Given the description of an element on the screen output the (x, y) to click on. 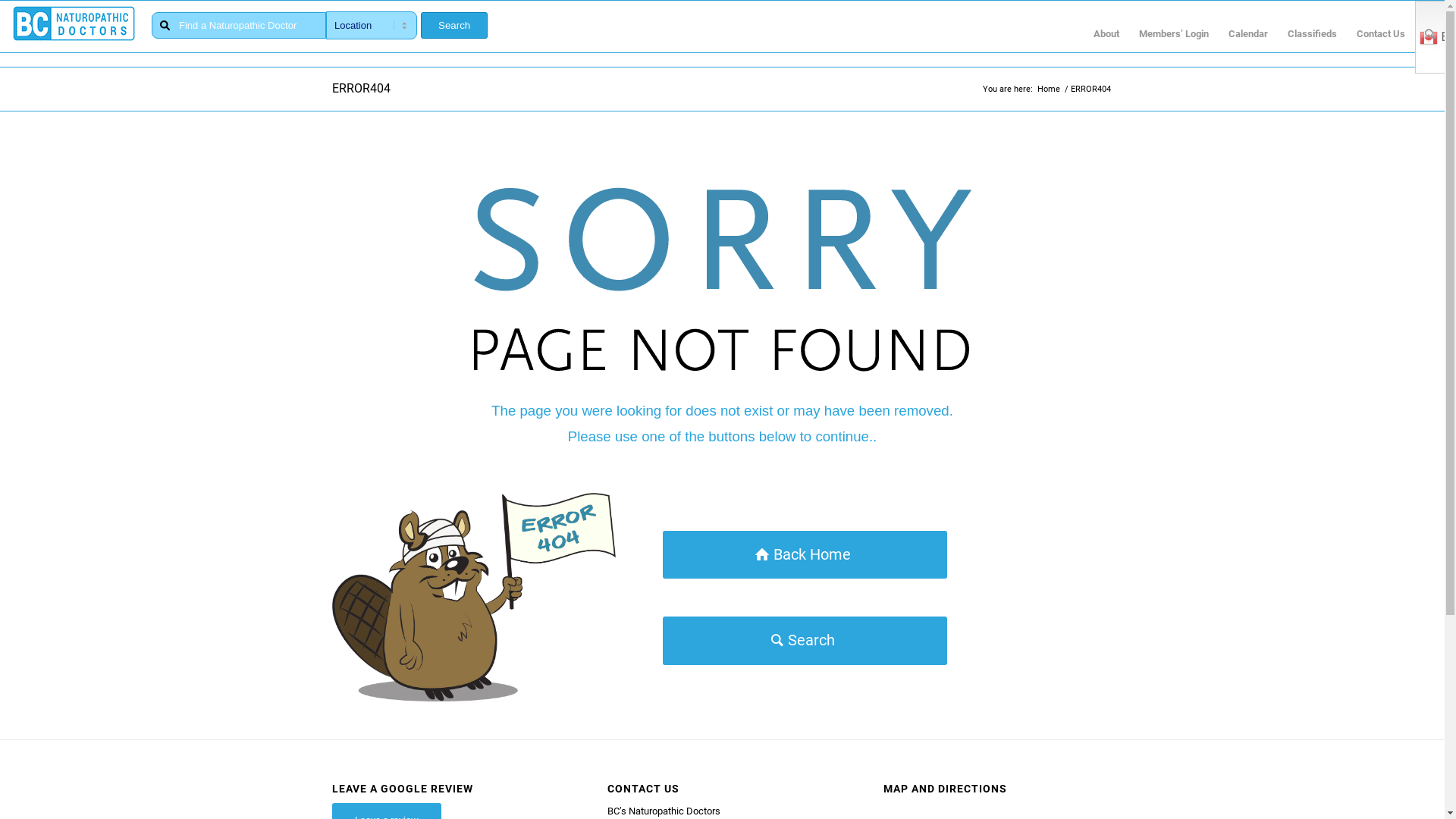
Classifieds Element type: text (1311, 33)
Home Element type: text (1047, 88)
Back Home Element type: text (804, 554)
ERROR404 Element type: text (361, 88)
Contact Us Element type: text (1380, 33)
Calendar Element type: text (1247, 33)
About Element type: text (1106, 33)
Search Element type: text (804, 640)
Sorry_page_not_found-bcnd Element type: hover (721, 279)
Error_404_Image-BCND Element type: hover (474, 596)
Search Element type: text (453, 25)
